Given the description of an element on the screen output the (x, y) to click on. 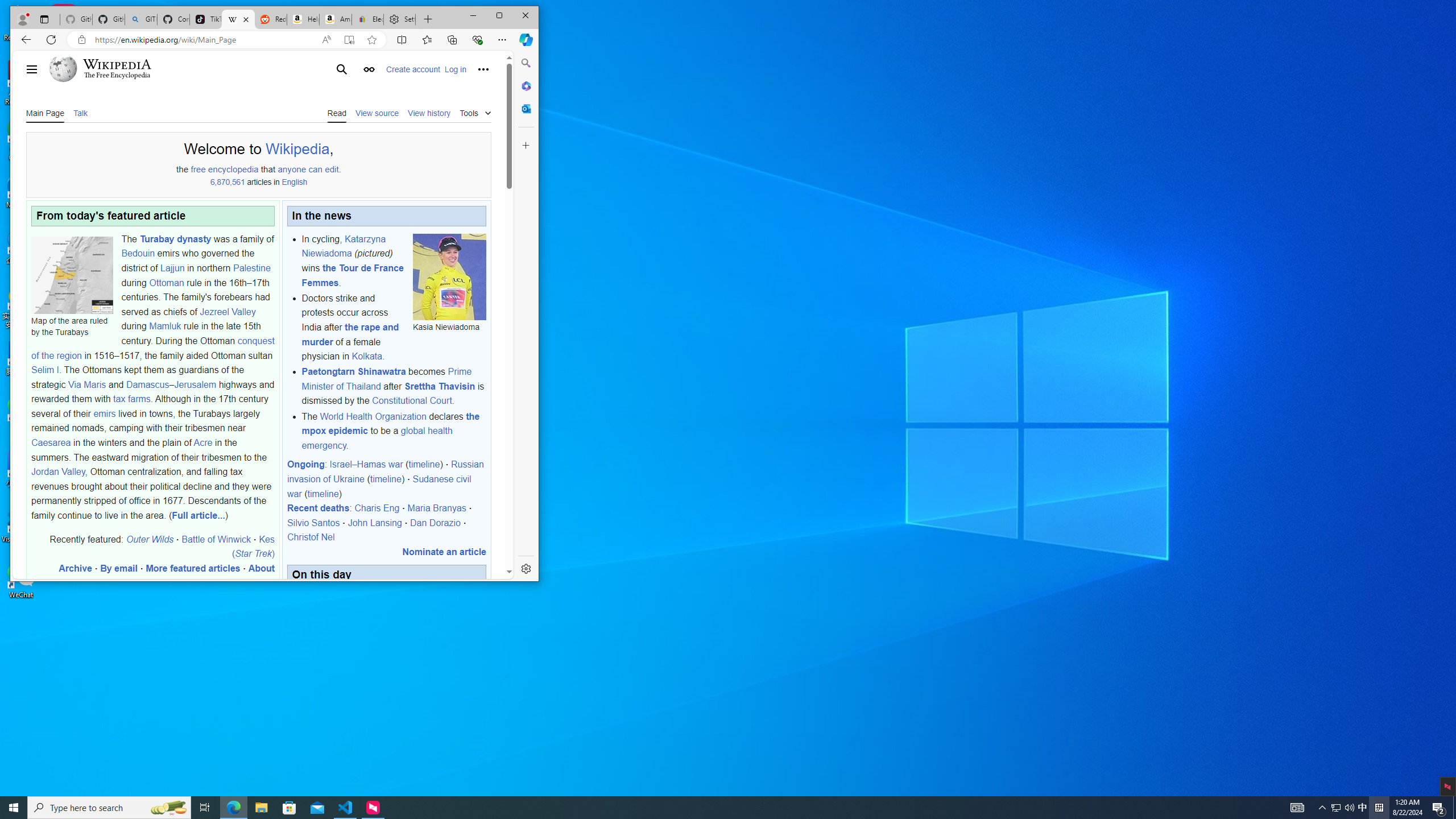
Lajjun (172, 267)
About (261, 568)
AutomationID: 4105 (1297, 807)
Wikipedia, the free encyclopedia (237, 19)
Show desktop (1454, 807)
Main Page (1362, 807)
Kasia Niewiadoma (45, 111)
